Given the description of an element on the screen output the (x, y) to click on. 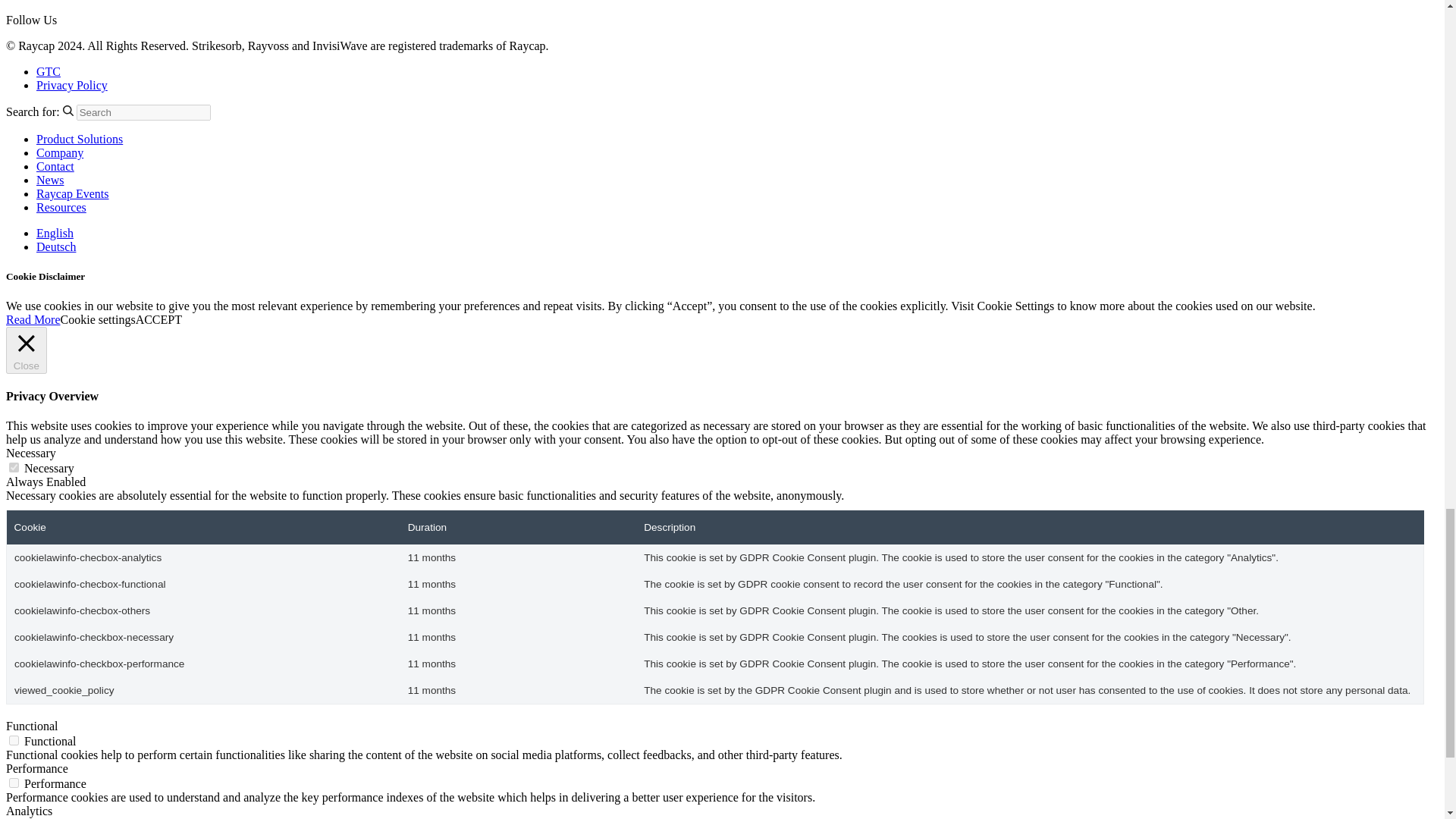
Fill 1 (68, 110)
on (13, 467)
on (13, 782)
on (13, 740)
